Given the description of an element on the screen output the (x, y) to click on. 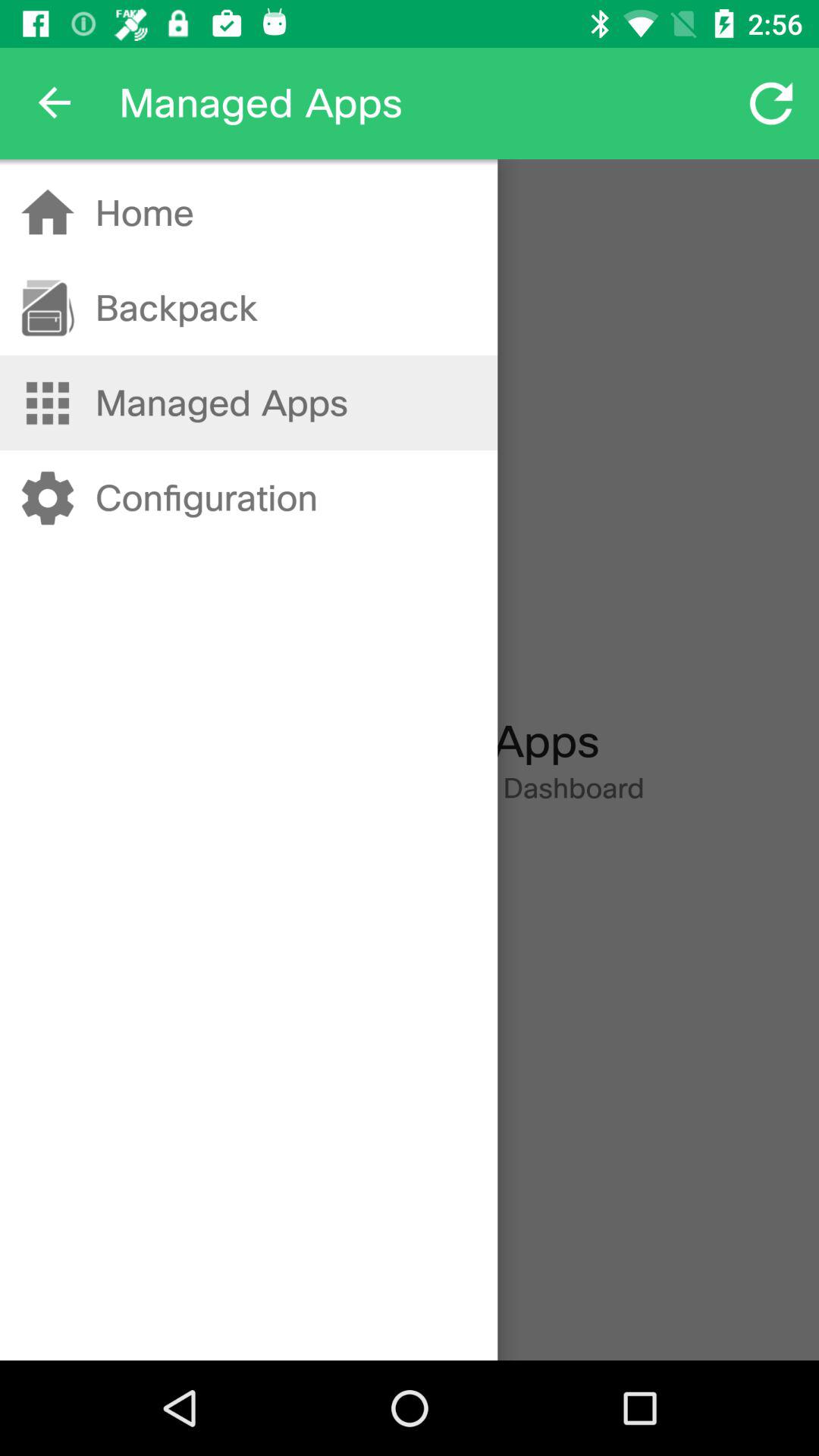
launch the item above the no managed apps icon (206, 497)
